Given the description of an element on the screen output the (x, y) to click on. 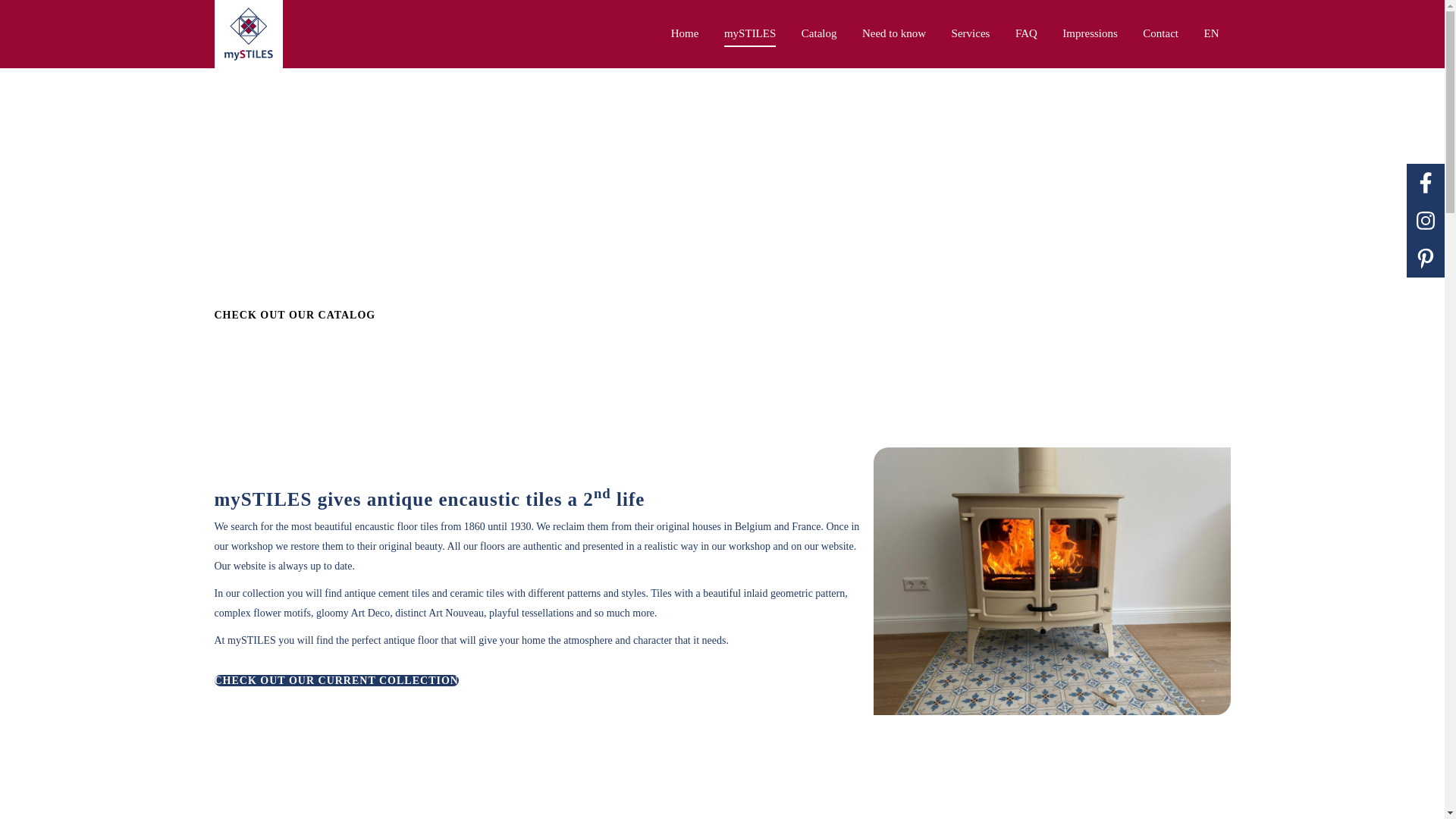
mySTILES (749, 33)
CHECK OUT OUR CATALOG (294, 315)
Impressions (1090, 33)
Home (684, 33)
CHECK OUT OUR CURRENT COLLECTION (336, 680)
Fire place inspiration (1051, 580)
FAQ (1025, 33)
Contact (1159, 33)
Services (971, 33)
Need to know (893, 33)
